Given the description of an element on the screen output the (x, y) to click on. 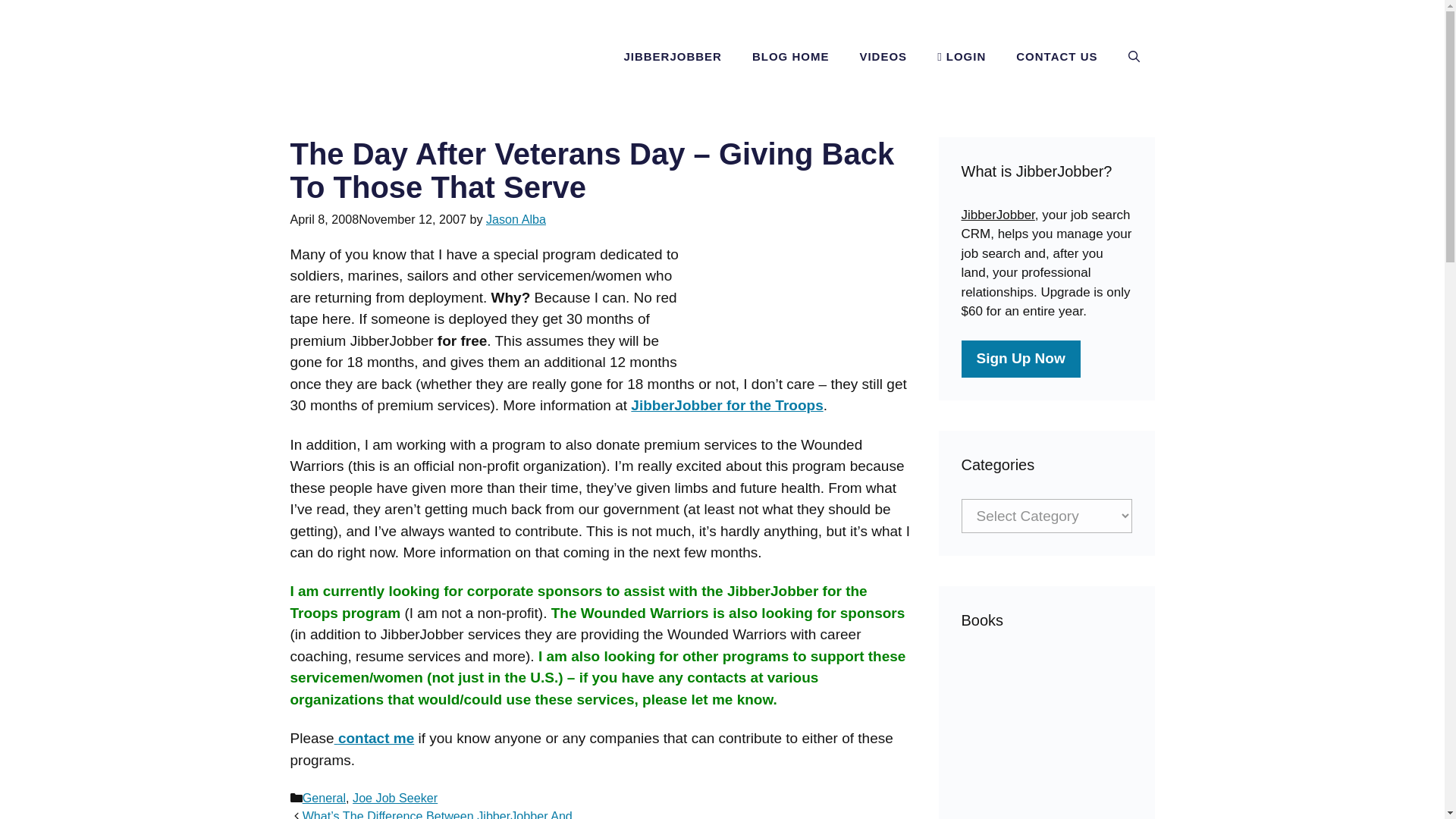
JibberJobber for the Troops (726, 405)
Jason Alba (516, 219)
Career Management - contact us (374, 738)
Joe Job Seeker (395, 797)
Previous (445, 814)
JibberJobber (997, 214)
deployed veterans get premium career management tools (726, 405)
JibberJobber Blog (421, 56)
Soldiers Praying (801, 300)
JIBBERJOBBER (672, 56)
CONTACT US (1056, 56)
View all posts by Jason Alba (516, 219)
VIDEOS (882, 56)
JibberJobber Blog (421, 55)
General (324, 797)
